Given the description of an element on the screen output the (x, y) to click on. 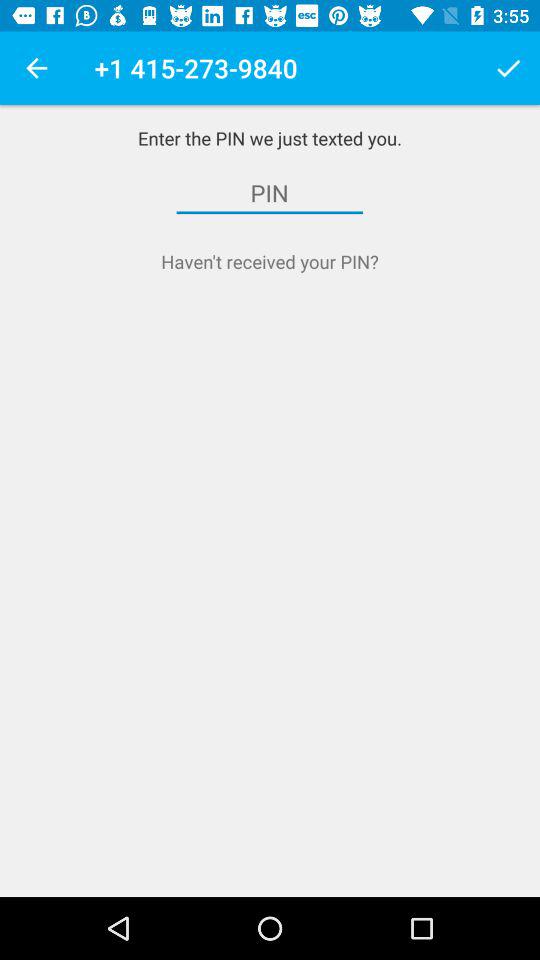
select item above enter the pin icon (36, 68)
